Given the description of an element on the screen output the (x, y) to click on. 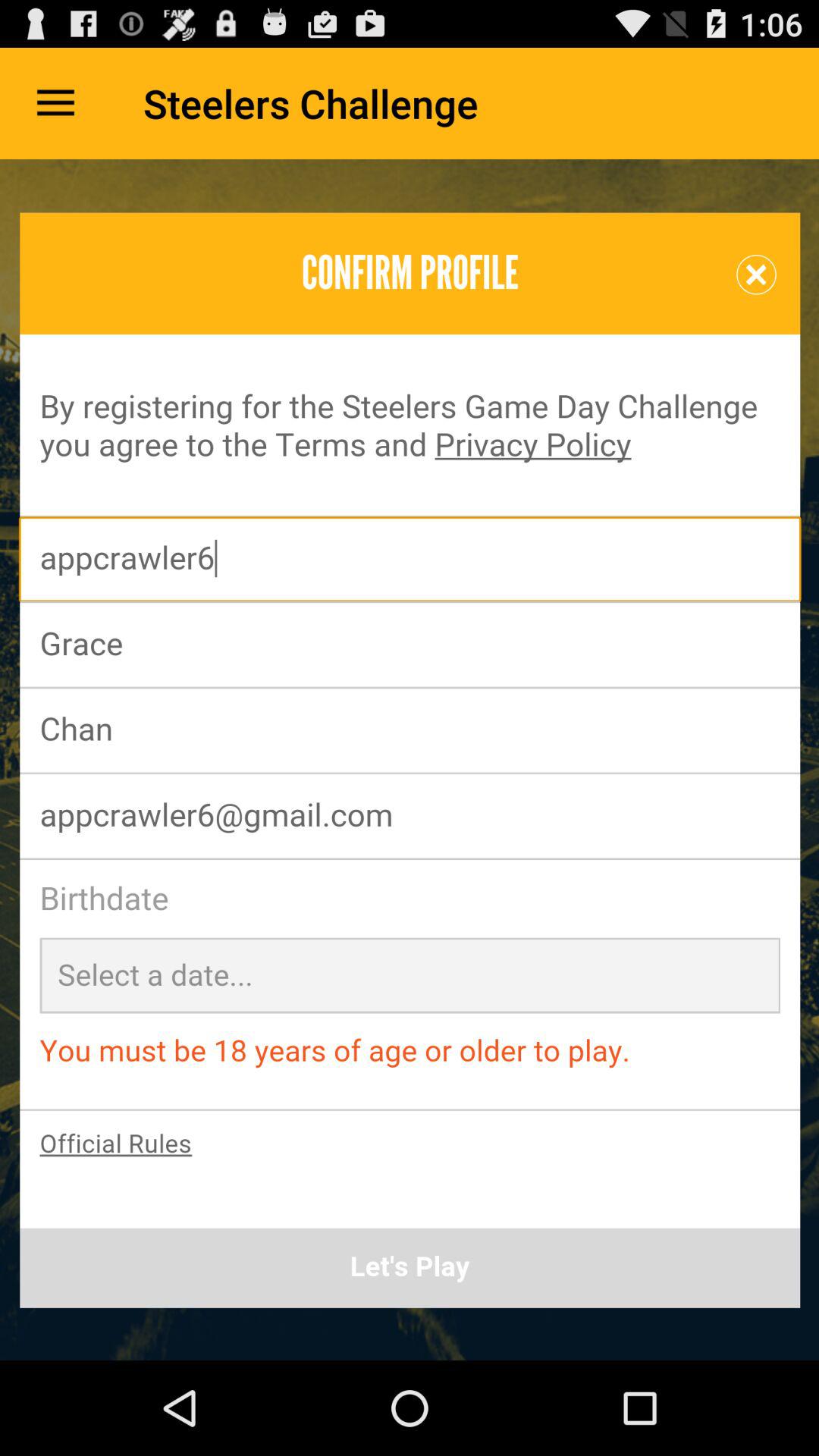
confirms profile (409, 759)
